Given the description of an element on the screen output the (x, y) to click on. 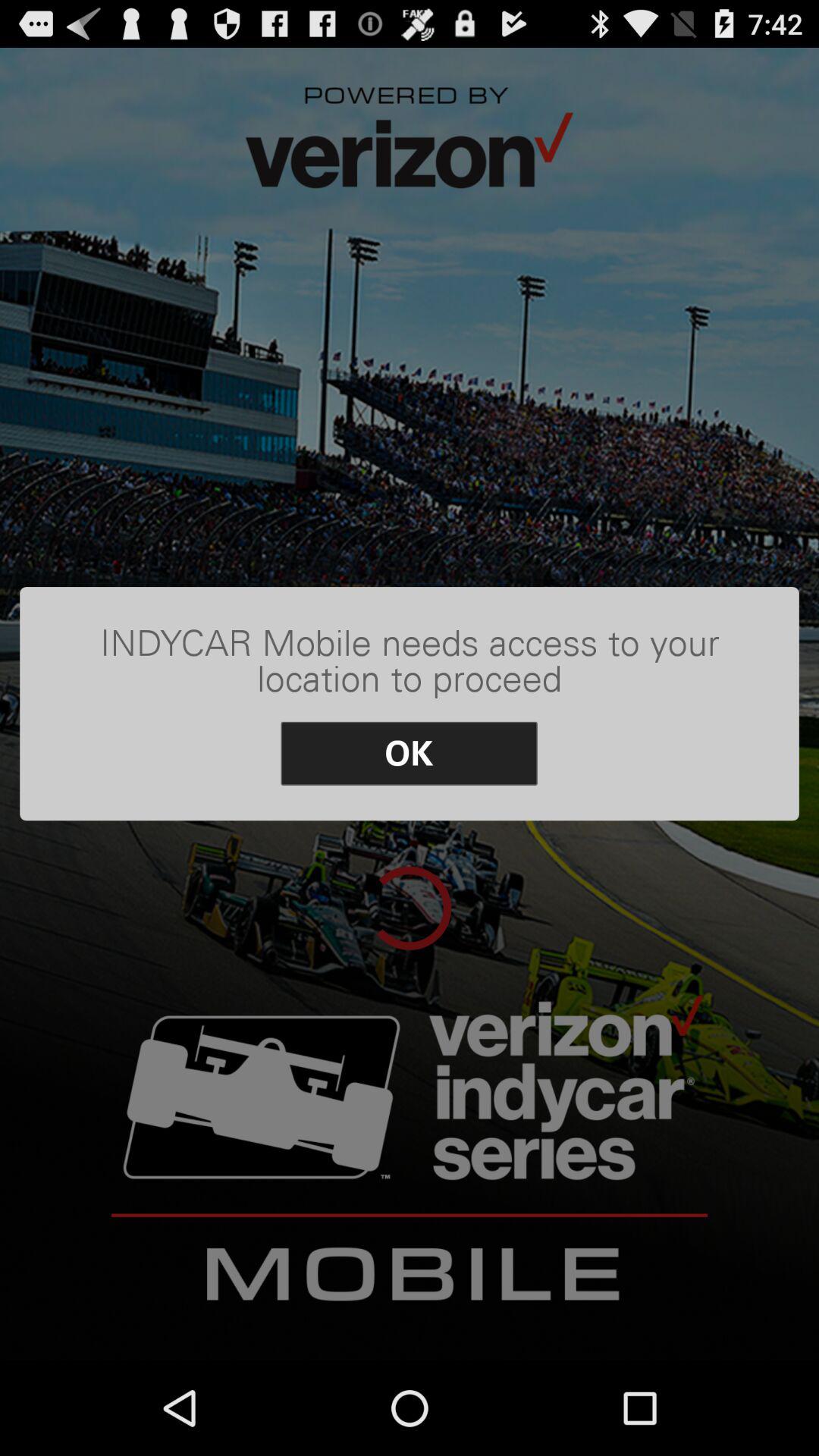
choose the ok item (408, 753)
